Given the description of an element on the screen output the (x, y) to click on. 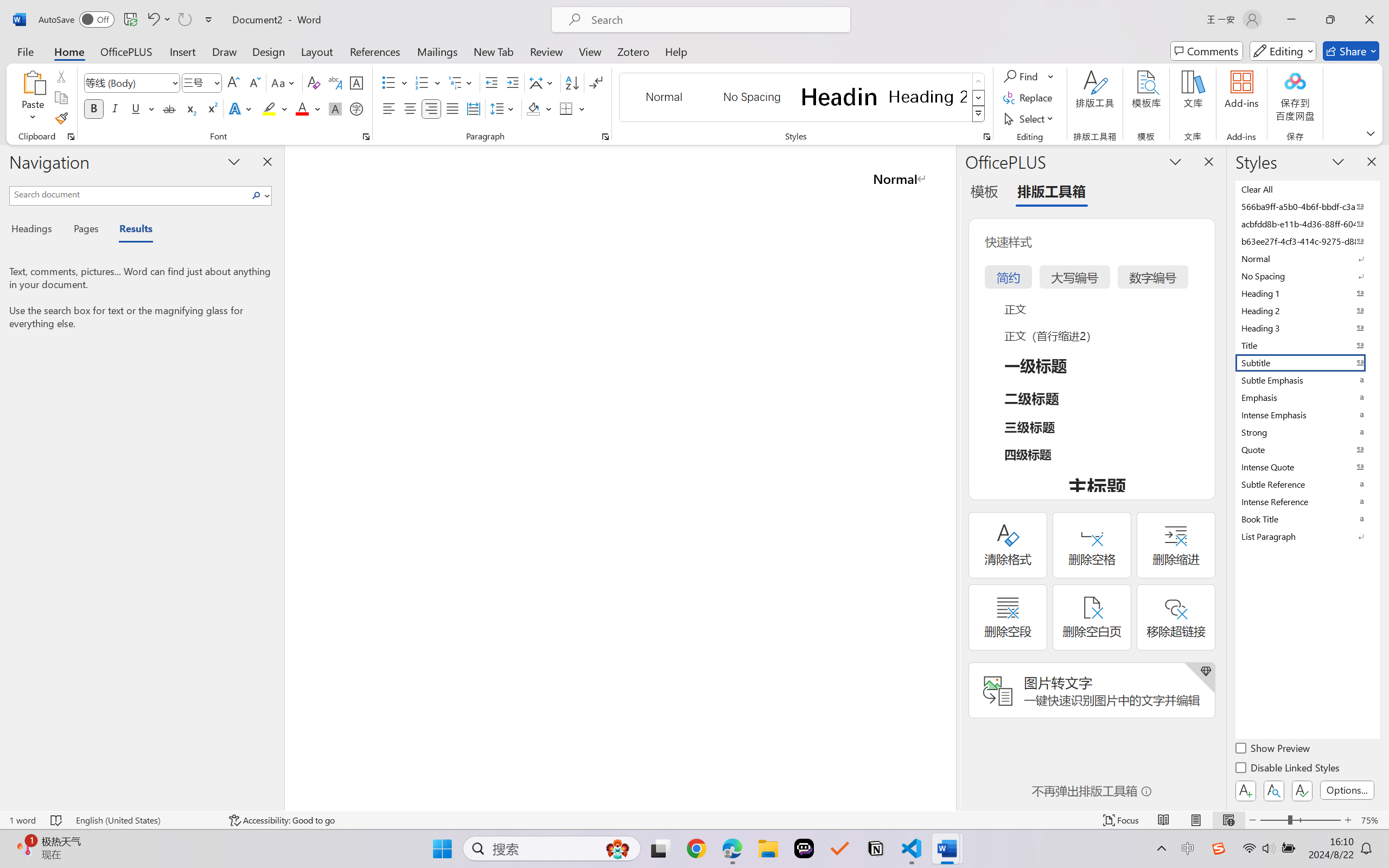
Mode (1283, 50)
AutomationID: BadgeAnchorLargeTicker (24, 847)
Ribbon Display Options (1370, 132)
Select (1030, 118)
Layout (316, 51)
Sort... (571, 82)
Phonetic Guide... (334, 82)
Increase Indent (512, 82)
